Given the description of an element on the screen output the (x, y) to click on. 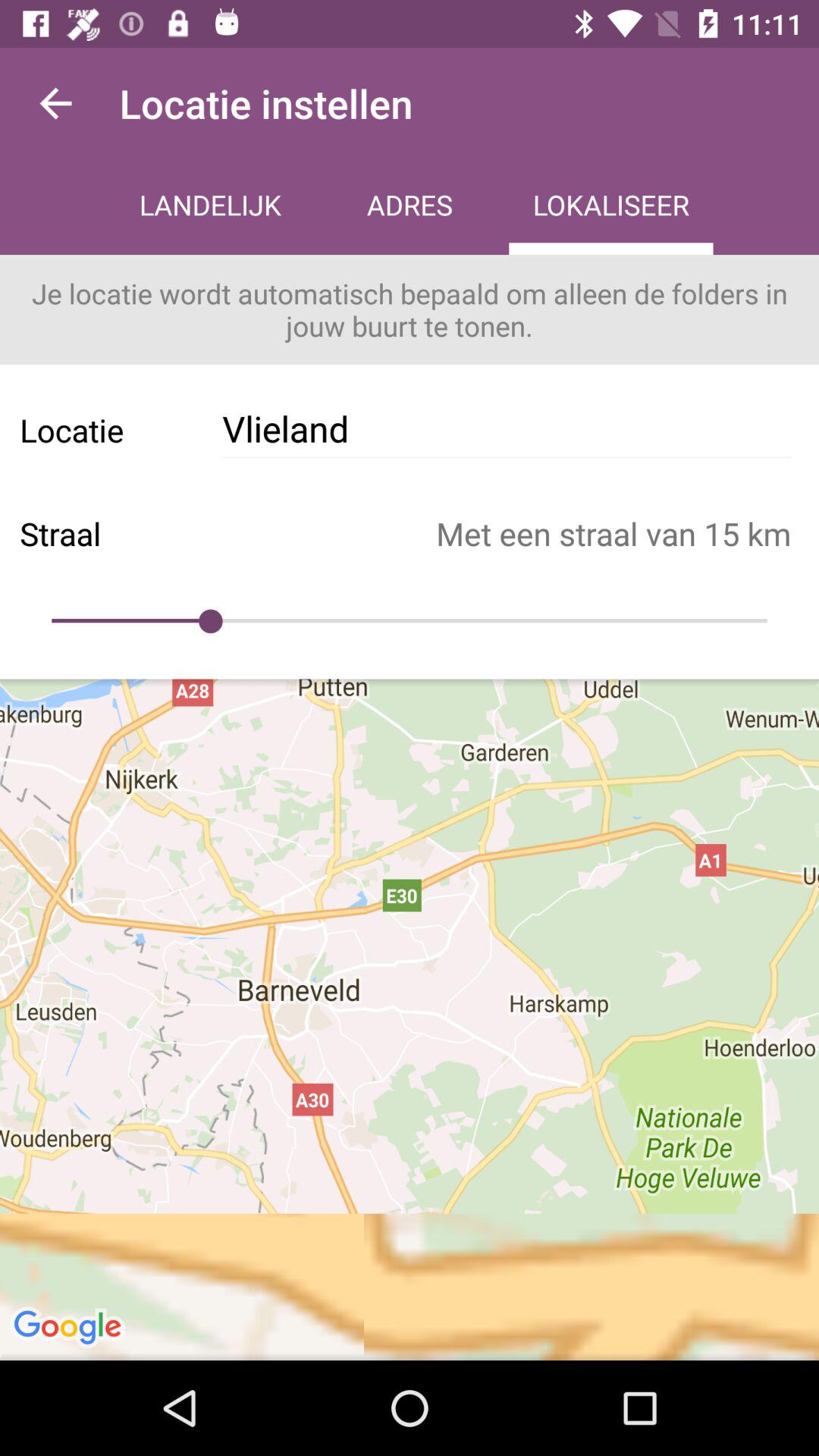
select icon next to the adres (611, 206)
